Given the description of an element on the screen output the (x, y) to click on. 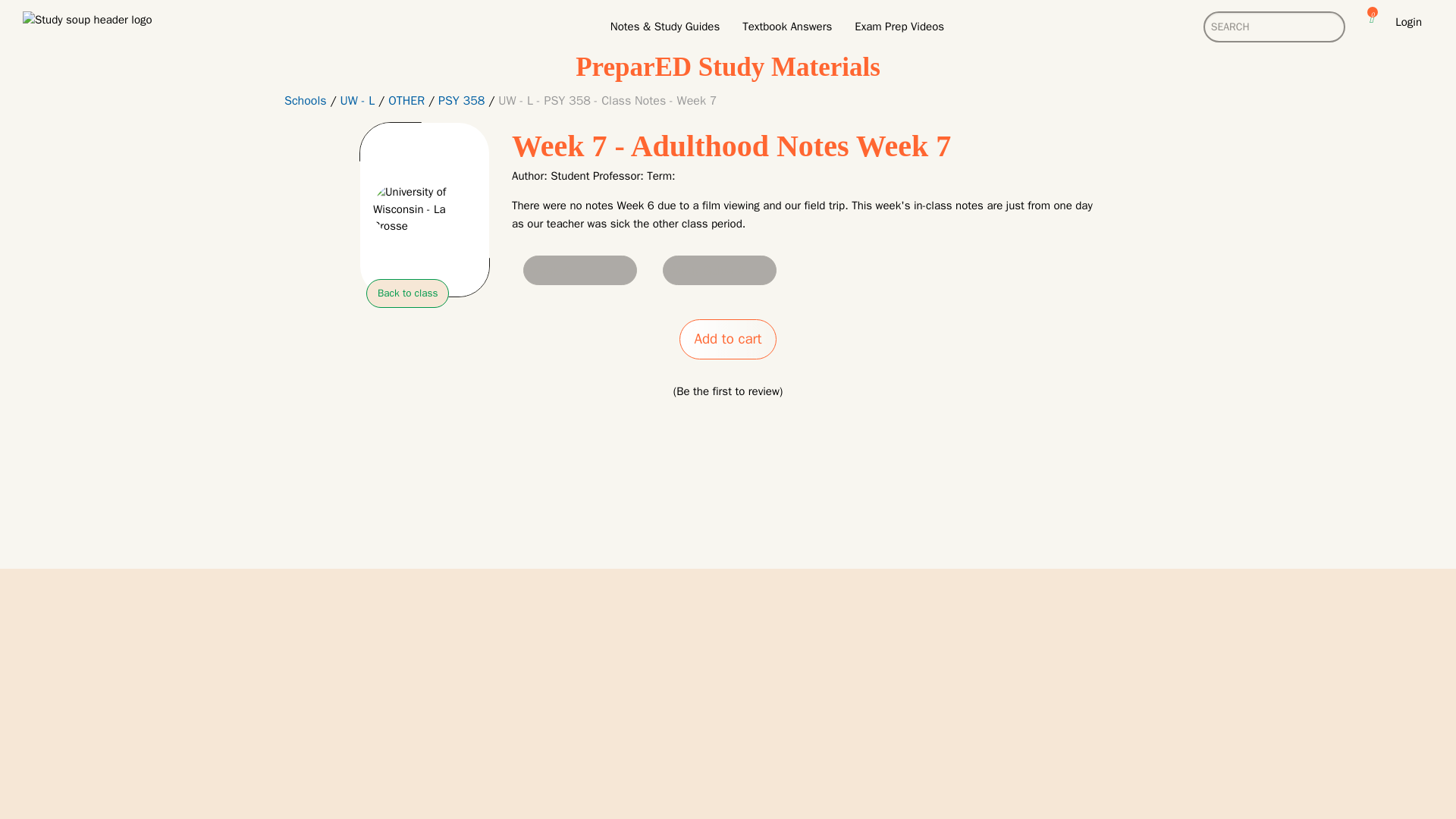
Login (1408, 26)
OTHER (406, 100)
Add to cart (728, 339)
Textbook Answers (786, 26)
Schools (304, 100)
Exam Prep Videos (899, 26)
PSY 358 (461, 100)
Back to class (407, 293)
UW - L (356, 100)
